Given the description of an element on the screen output the (x, y) to click on. 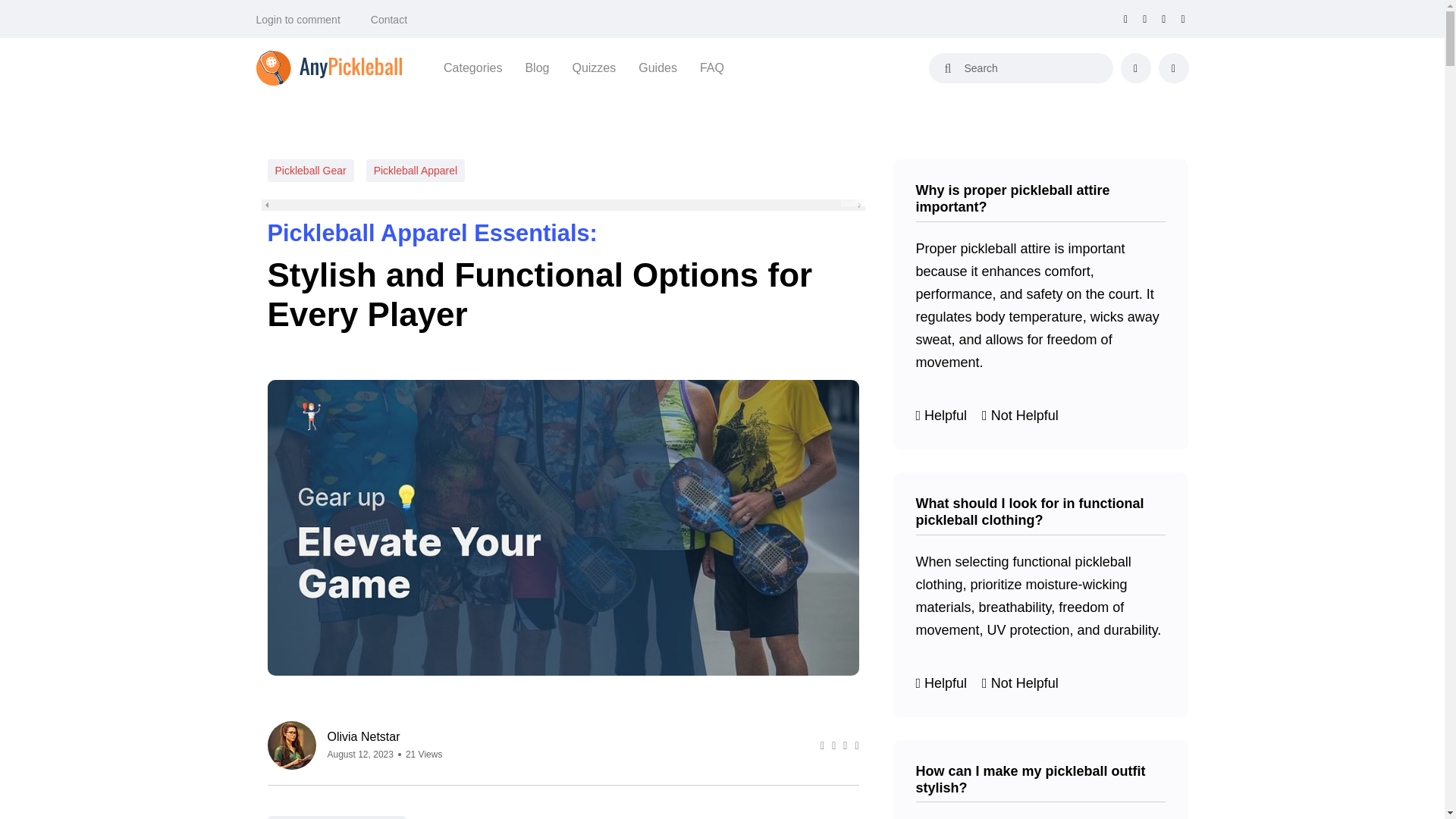
Login to comment (298, 19)
Categories (473, 67)
Contact (389, 19)
